Given the description of an element on the screen output the (x, y) to click on. 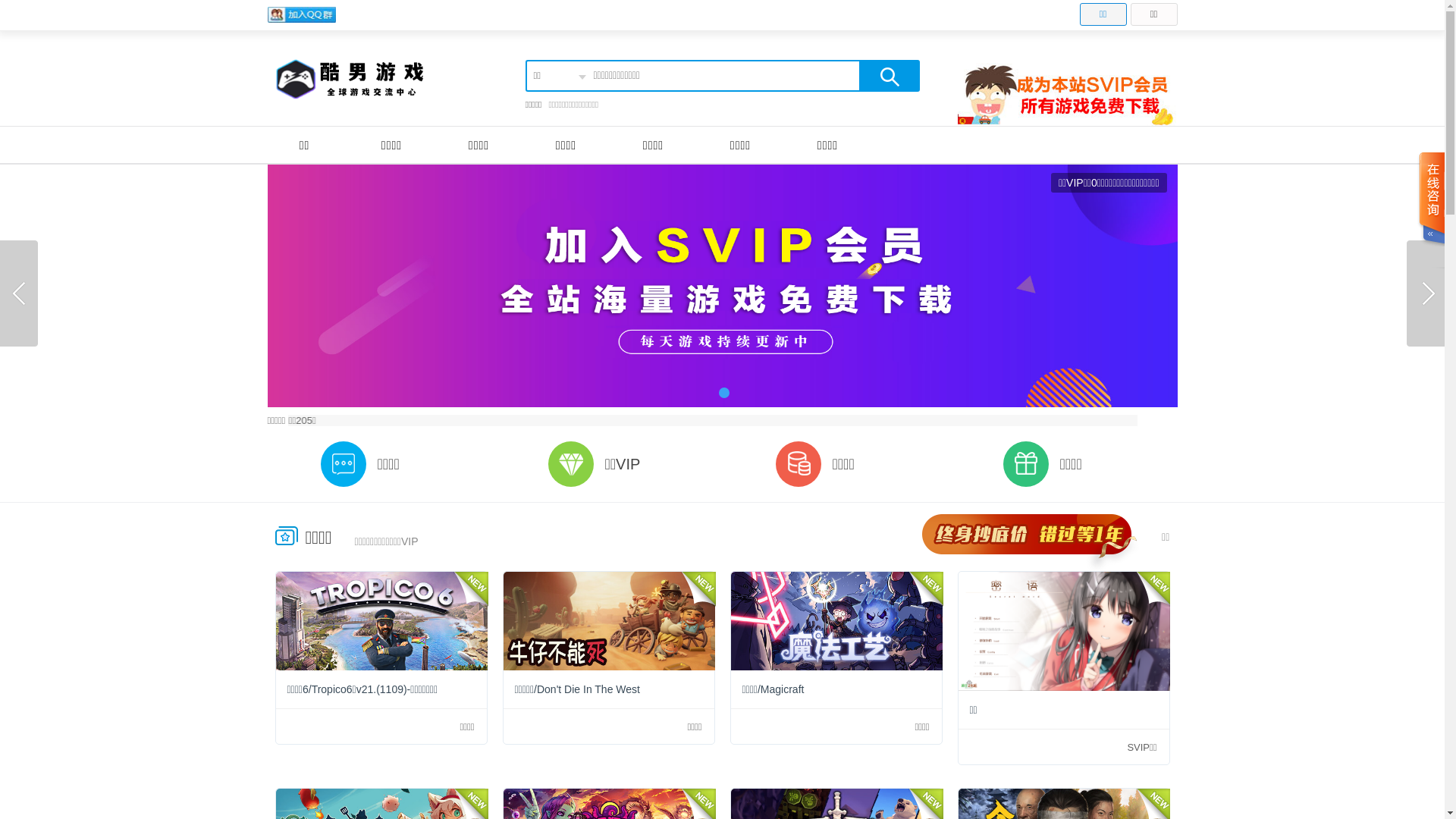
prev Element type: text (18, 293)
next Element type: text (1425, 293)
  Element type: text (1430, 210)
